Given the description of an element on the screen output the (x, y) to click on. 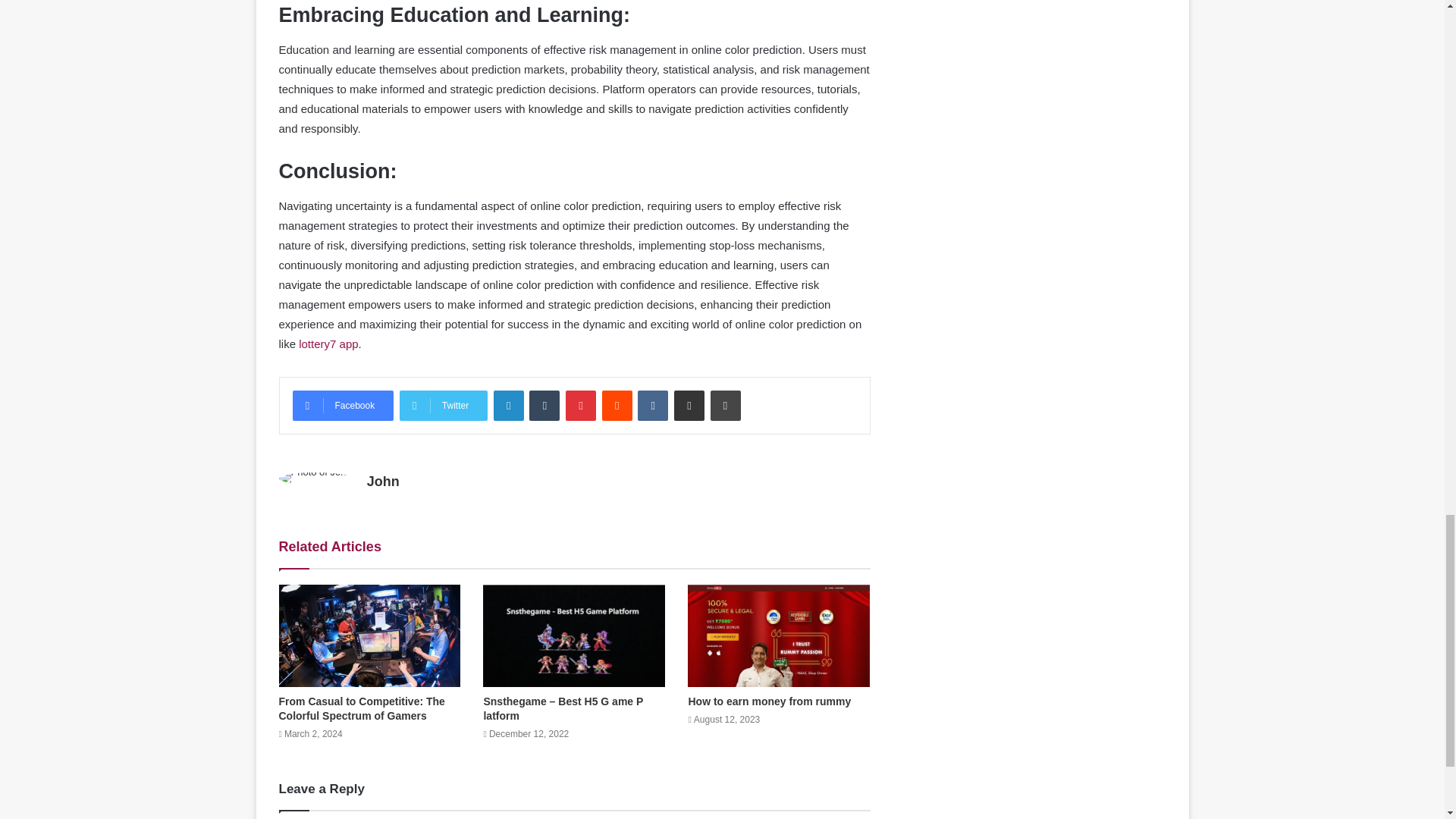
Twitter (442, 405)
Pinterest (580, 405)
Twitter (442, 405)
John (382, 481)
VKontakte (652, 405)
LinkedIn (508, 405)
Share via Email (689, 405)
From Casual to Competitive: The Colorful Spectrum of Gamers (362, 708)
Pinterest (580, 405)
Facebook (343, 405)
lottery7 app (328, 343)
Facebook (343, 405)
How to earn money from rummy (768, 701)
LinkedIn (508, 405)
Reddit (616, 405)
